Given the description of an element on the screen output the (x, y) to click on. 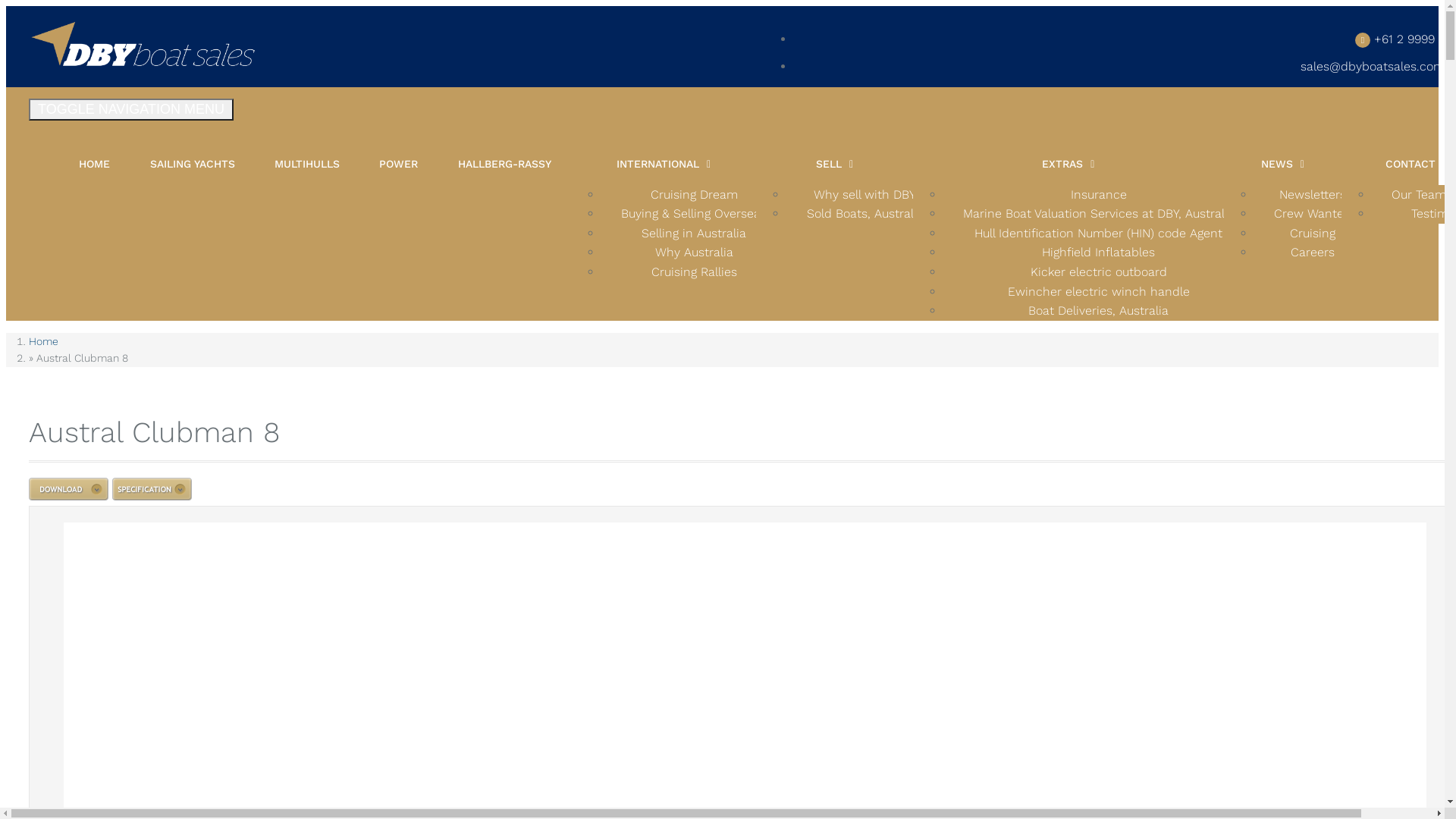
HOME Element type: text (94, 163)
HALLBERG-RASSY Element type: text (504, 163)
Highfield Inflatables Element type: text (1097, 251)
NEWS Element type: text (1276, 163)
Sold Boats, Australia Element type: text (864, 213)
Marine Boat Valuation Services at DBY, Australia Element type: text (1098, 213)
Careers Element type: text (1312, 251)
Insurance Element type: text (1098, 194)
Cruising Rallies Element type: text (694, 271)
Boat Deliveries, Australia Element type: text (1098, 310)
Ewincher electric winch handle Element type: text (1098, 291)
TOGGLE NAVIGATION MENU Element type: text (130, 109)
Home Element type: text (43, 341)
SELL Element type: text (828, 163)
Why Australia Element type: text (694, 251)
Selling in Australia Element type: text (693, 232)
Why sell with DBY Element type: text (864, 194)
Cruising Dream Element type: text (693, 194)
Kicker electric outboard Element type: text (1098, 271)
Cruising Element type: text (1312, 232)
Buying & Selling Overseas Element type: text (693, 213)
MULTIHULLS Element type: text (306, 163)
SAILING YACHTS Element type: text (192, 163)
POWER Element type: text (398, 163)
Hull Identification Number (HIN) code Agent Element type: text (1098, 232)
Crew Wanted Element type: text (1312, 213)
INTERNATIONAL Element type: text (657, 163)
EXTRAS Element type: text (1062, 163)
CONTACT Element type: text (1410, 163)
Newsletters Element type: text (1312, 194)
